Given the description of an element on the screen output the (x, y) to click on. 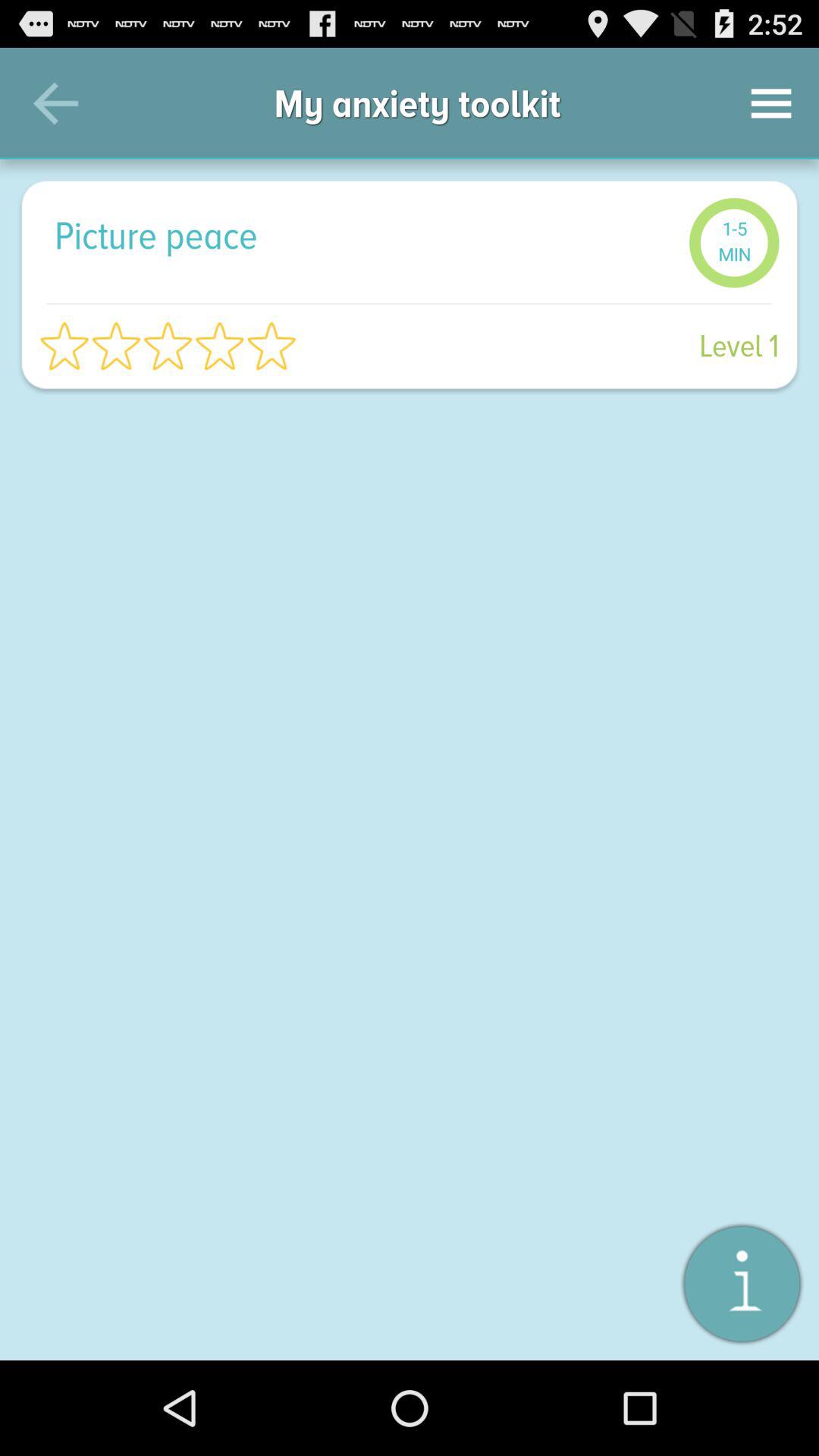
click the item below the level 1 (742, 1283)
